Given the description of an element on the screen output the (x, y) to click on. 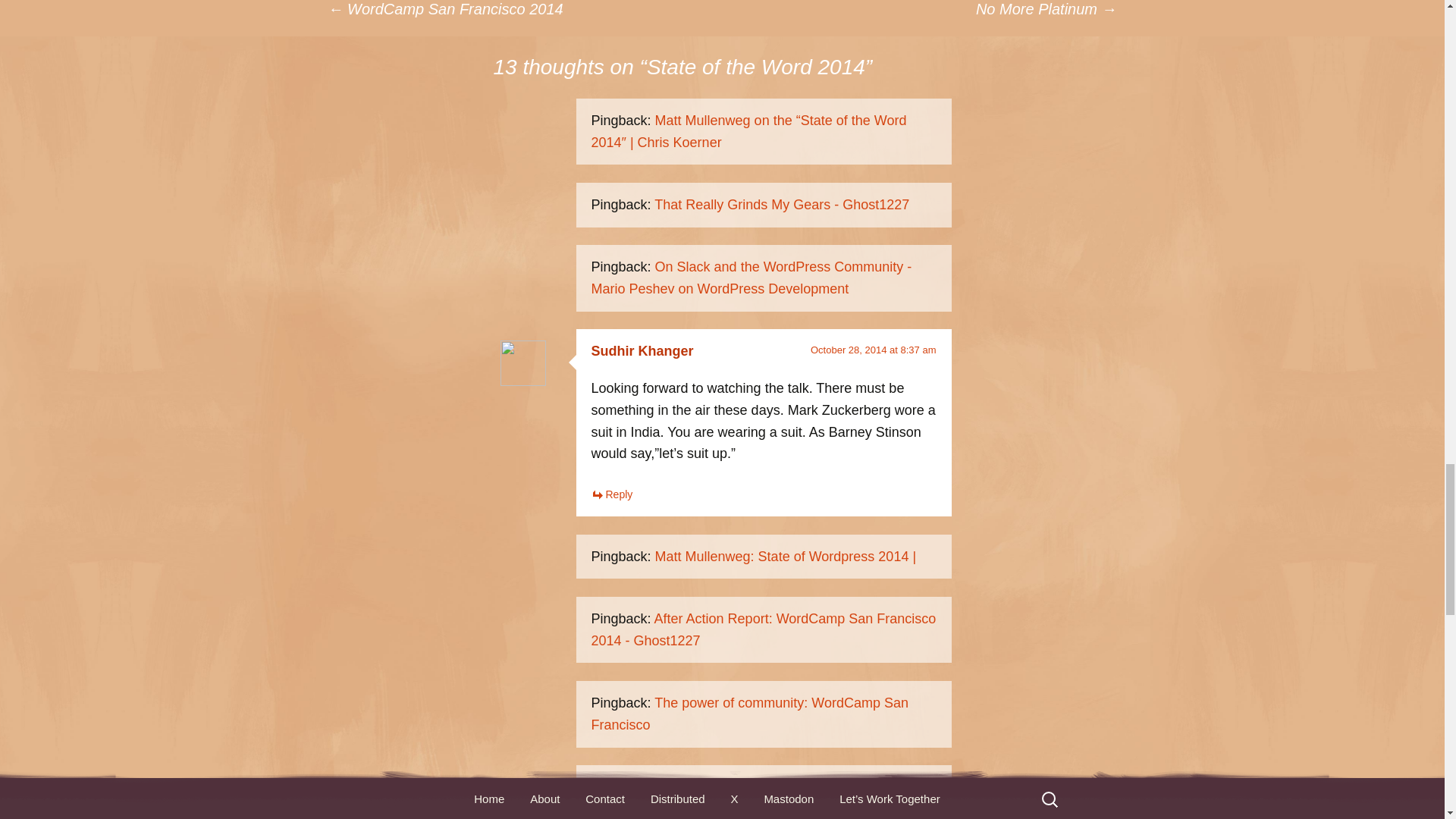
Sudhir Khanger (642, 350)
Reply (612, 494)
That Really Grinds My Gears - Ghost1227 (780, 204)
October 28, 2014 at 8:37 am (873, 349)
The power of community: WordCamp San Francisco (749, 713)
After Action Report: WordCamp San Francisco 2014 - Ghost1227 (763, 629)
